Given the description of an element on the screen output the (x, y) to click on. 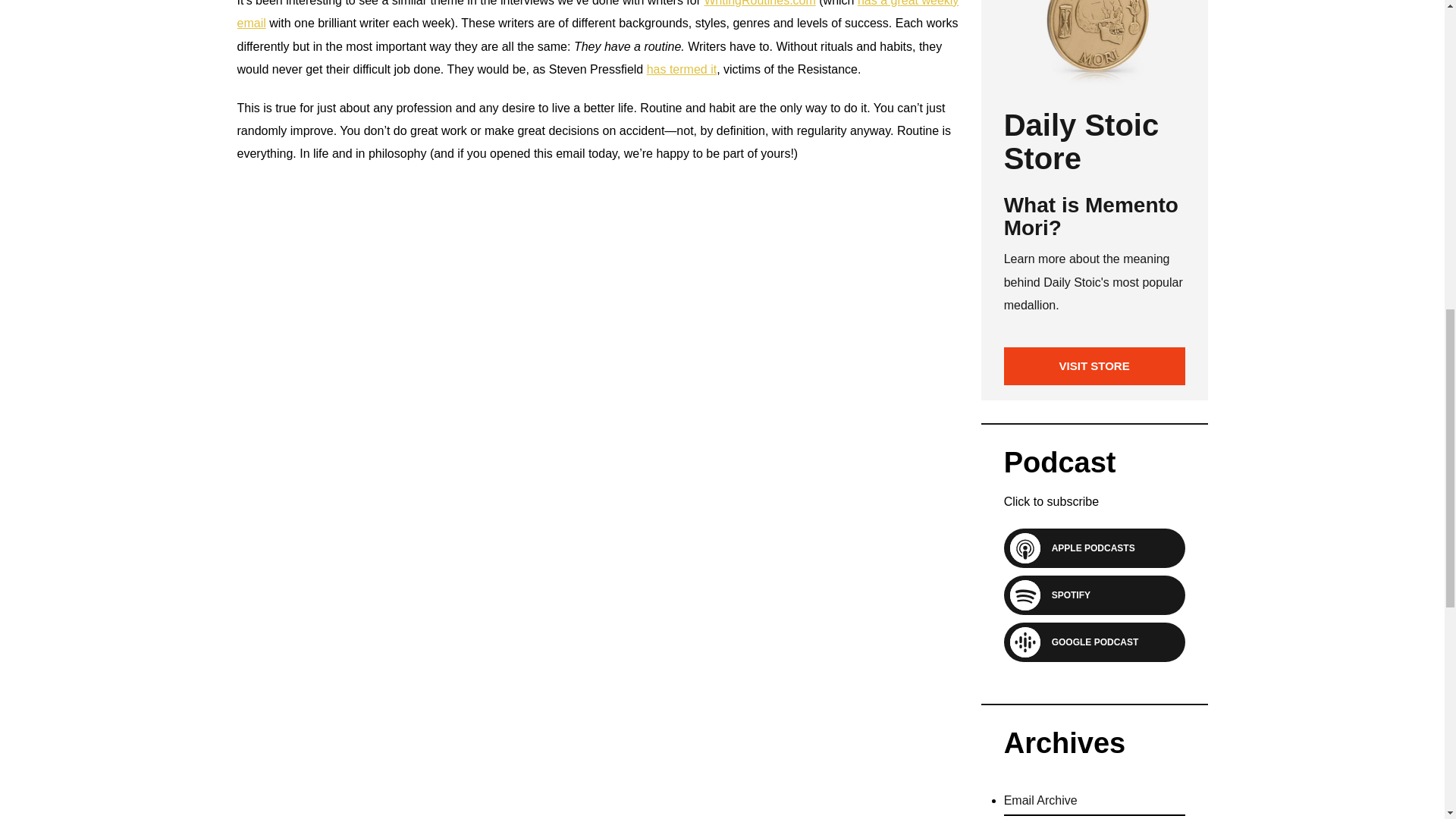
APPLE PODCASTS (1088, 548)
GOOGLE PODCAST (1089, 642)
WritingRoutines.com (759, 3)
has termed it (681, 69)
VISIT STORE (1094, 365)
Email Archive (1040, 806)
has a great weekly email (596, 14)
SPOTIFY (1065, 595)
